Given the description of an element on the screen output the (x, y) to click on. 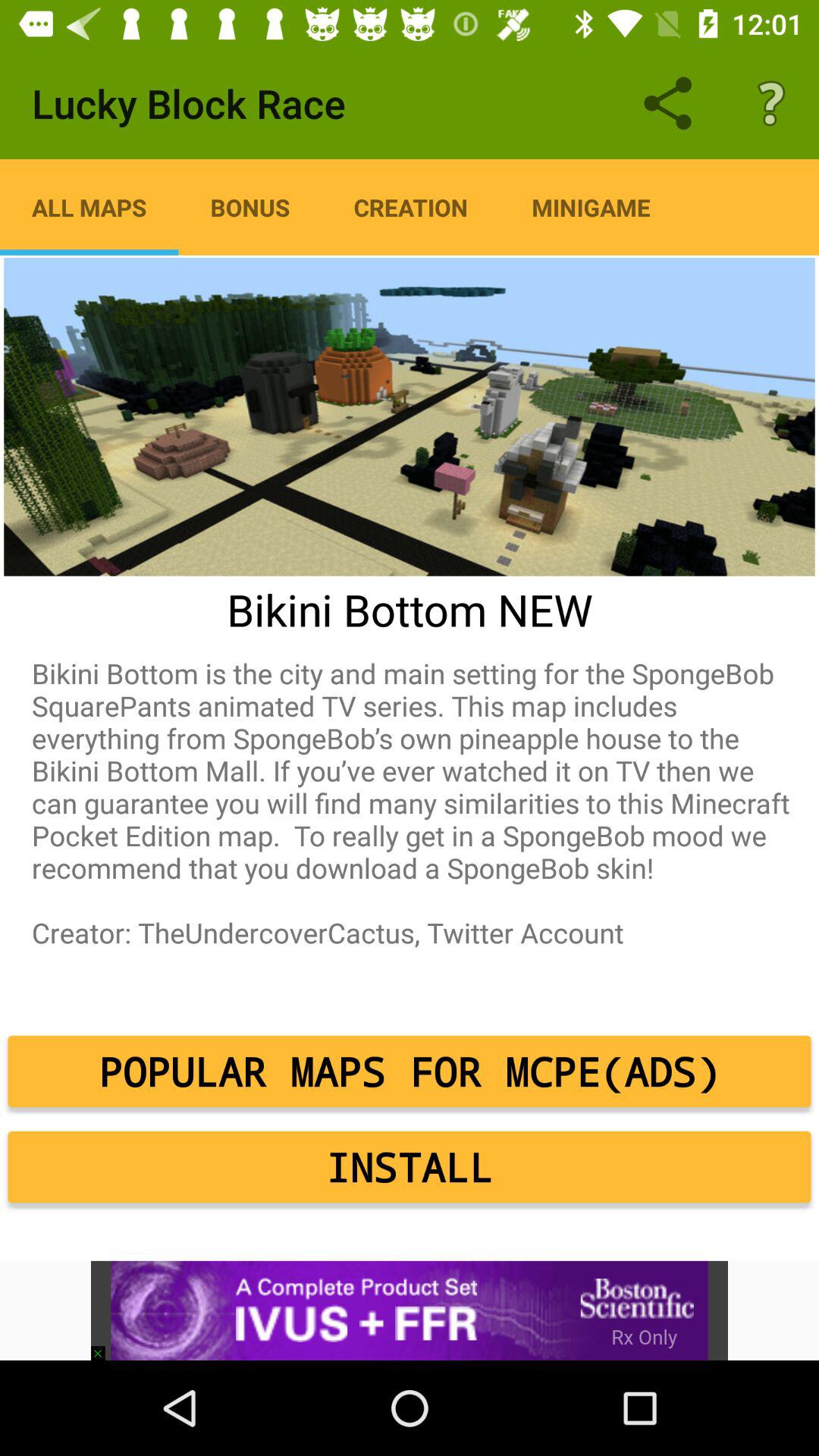
open icon to the right of the bonus (410, 207)
